Given the description of an element on the screen output the (x, y) to click on. 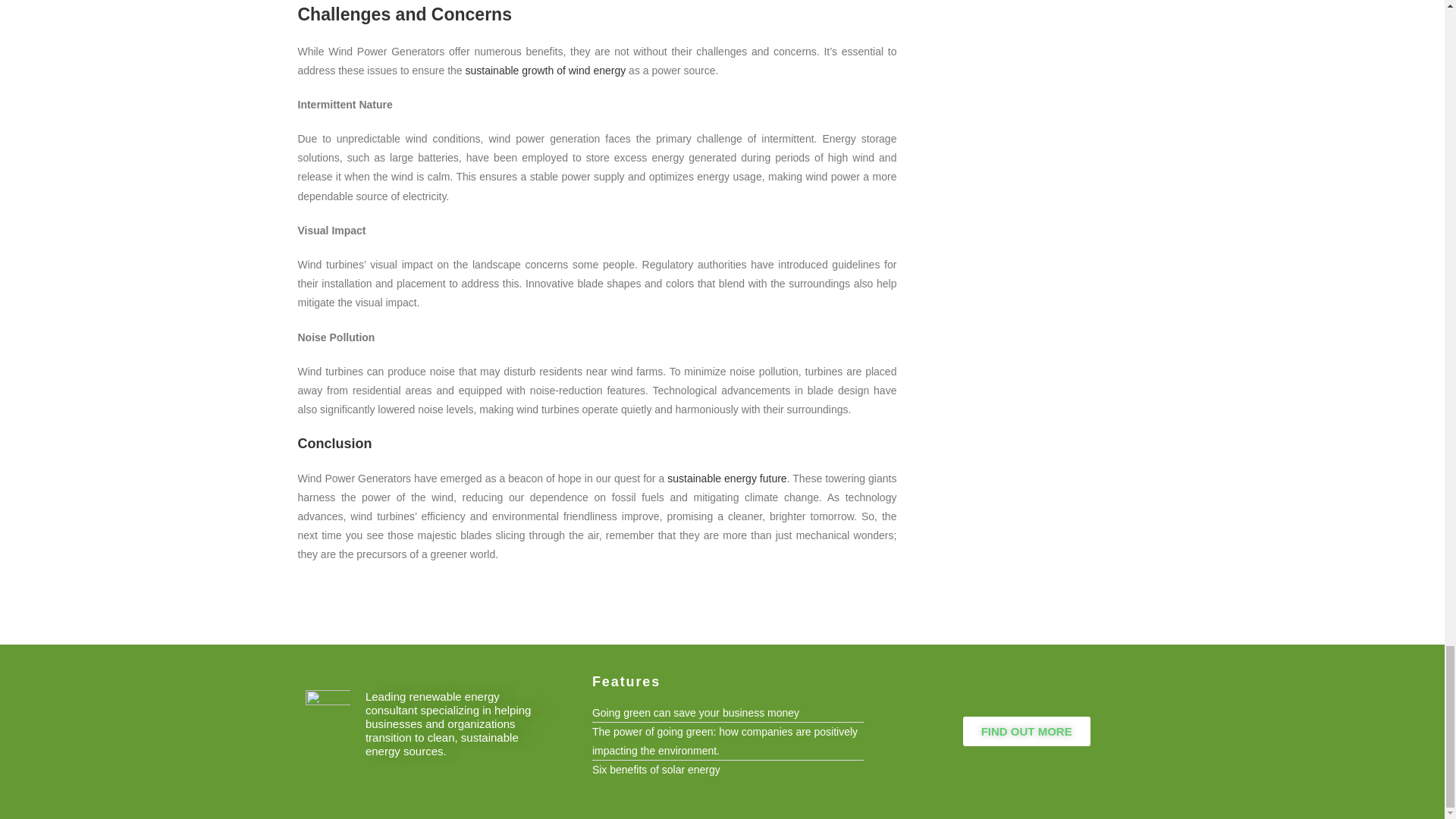
sustainable energy future (726, 478)
sustainable growth of wind energy (545, 70)
Six benefits of solar energy (727, 769)
Going green can save your business money (727, 712)
FIND OUT MORE (1026, 731)
